Given the description of an element on the screen output the (x, y) to click on. 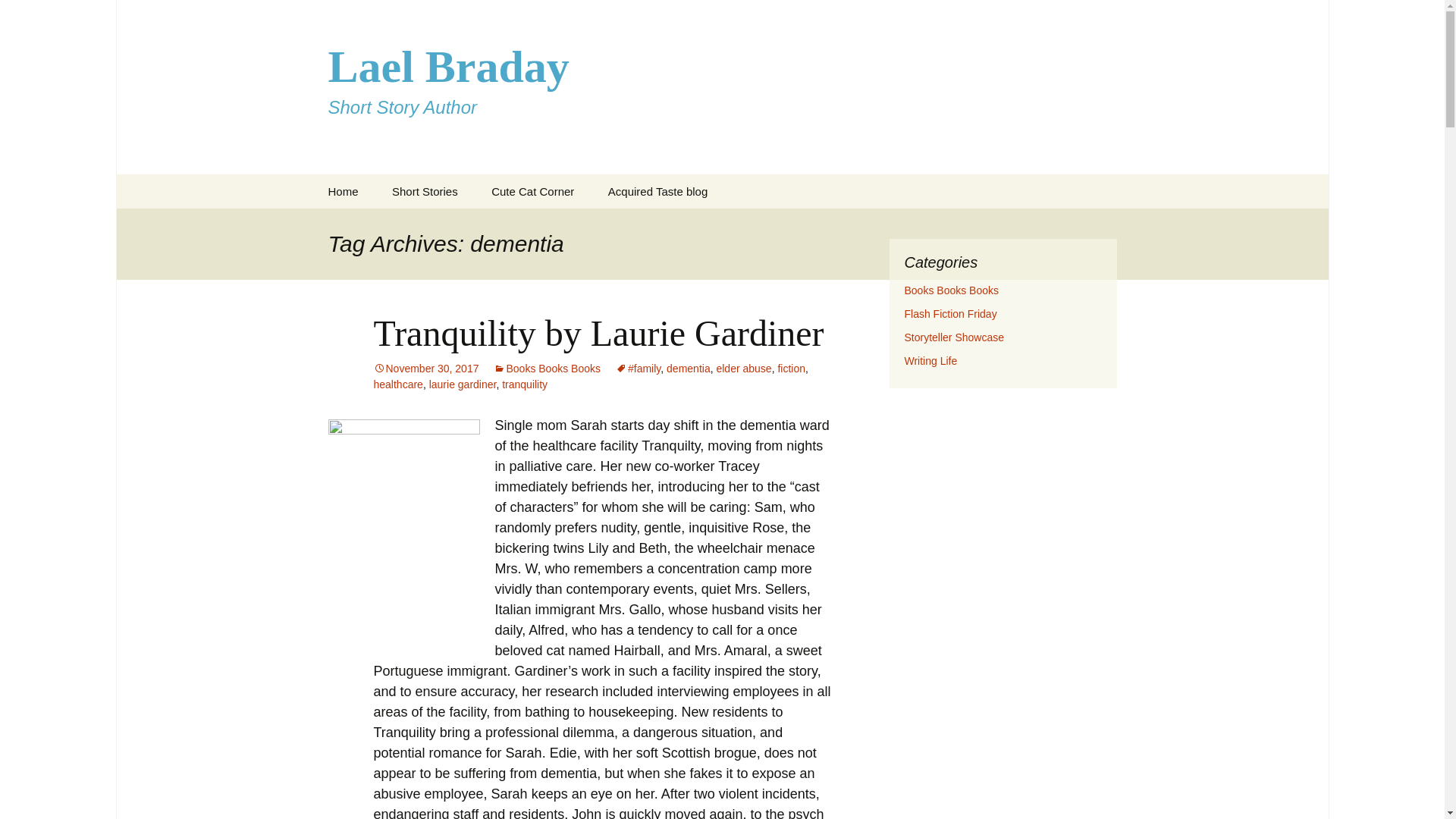
Books Books Books (546, 368)
Cute Cat Corner (532, 191)
Home (342, 191)
elder abuse (743, 368)
tranquility (524, 384)
November 30, 2017 (462, 384)
Tranquility by Laurie Gardiner (425, 368)
Skip to content (598, 332)
Short Stories (791, 368)
Acquired Taste blog (425, 191)
Search (657, 191)
healthcare (18, 15)
